Given the description of an element on the screen output the (x, y) to click on. 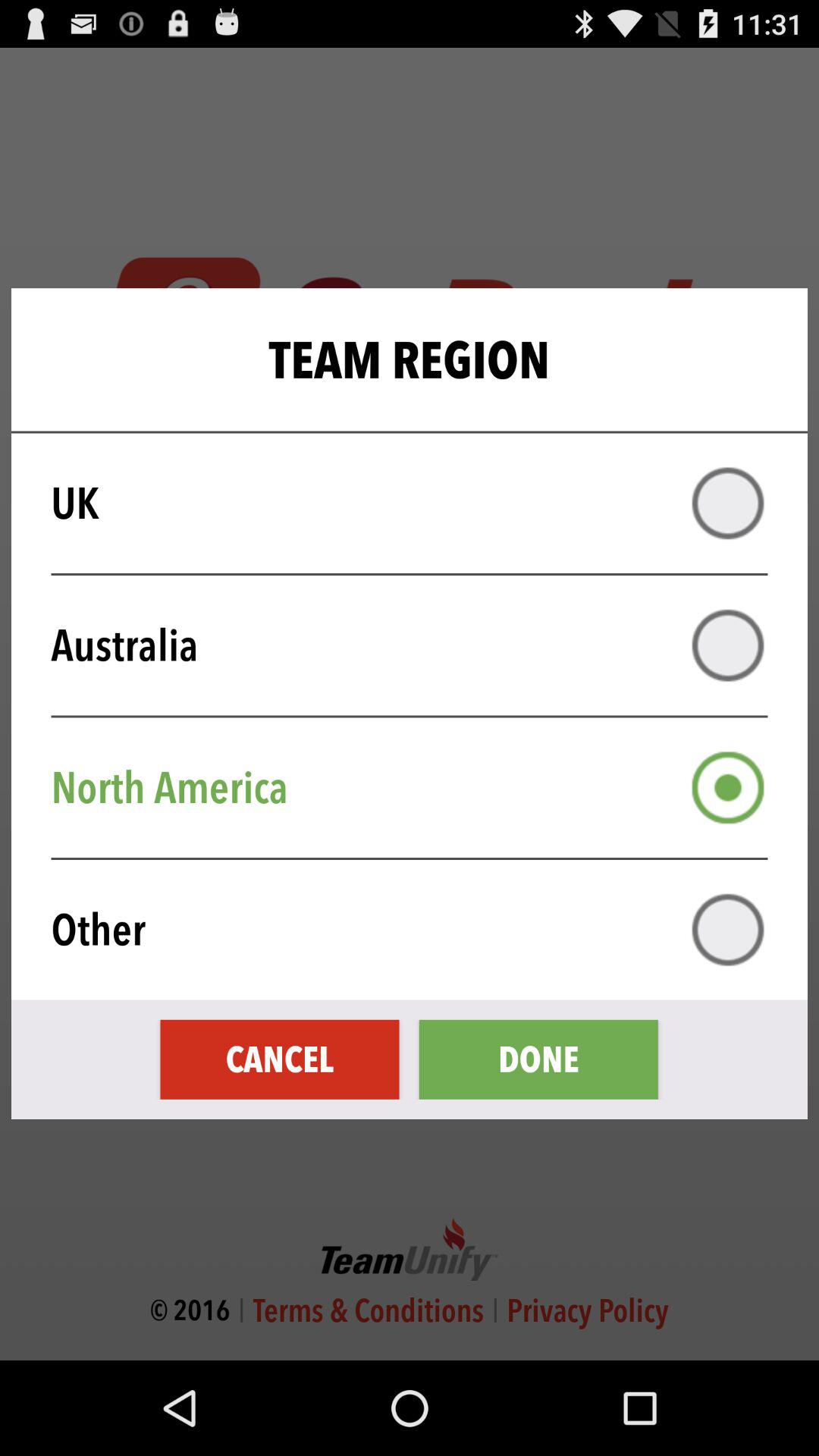
select region (727, 787)
